Given the description of an element on the screen output the (x, y) to click on. 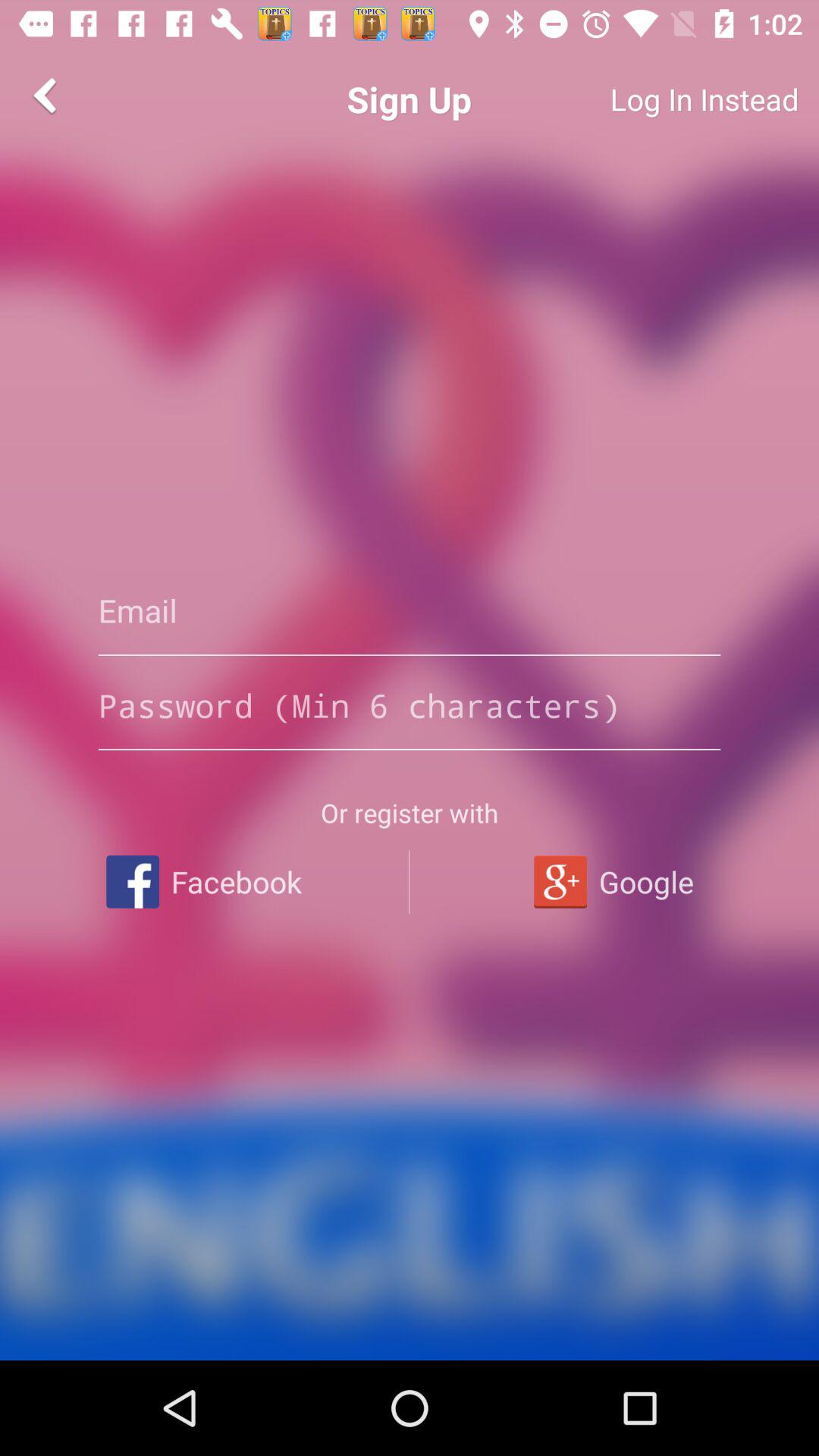
flip until the log in instead item (649, 99)
